Given the description of an element on the screen output the (x, y) to click on. 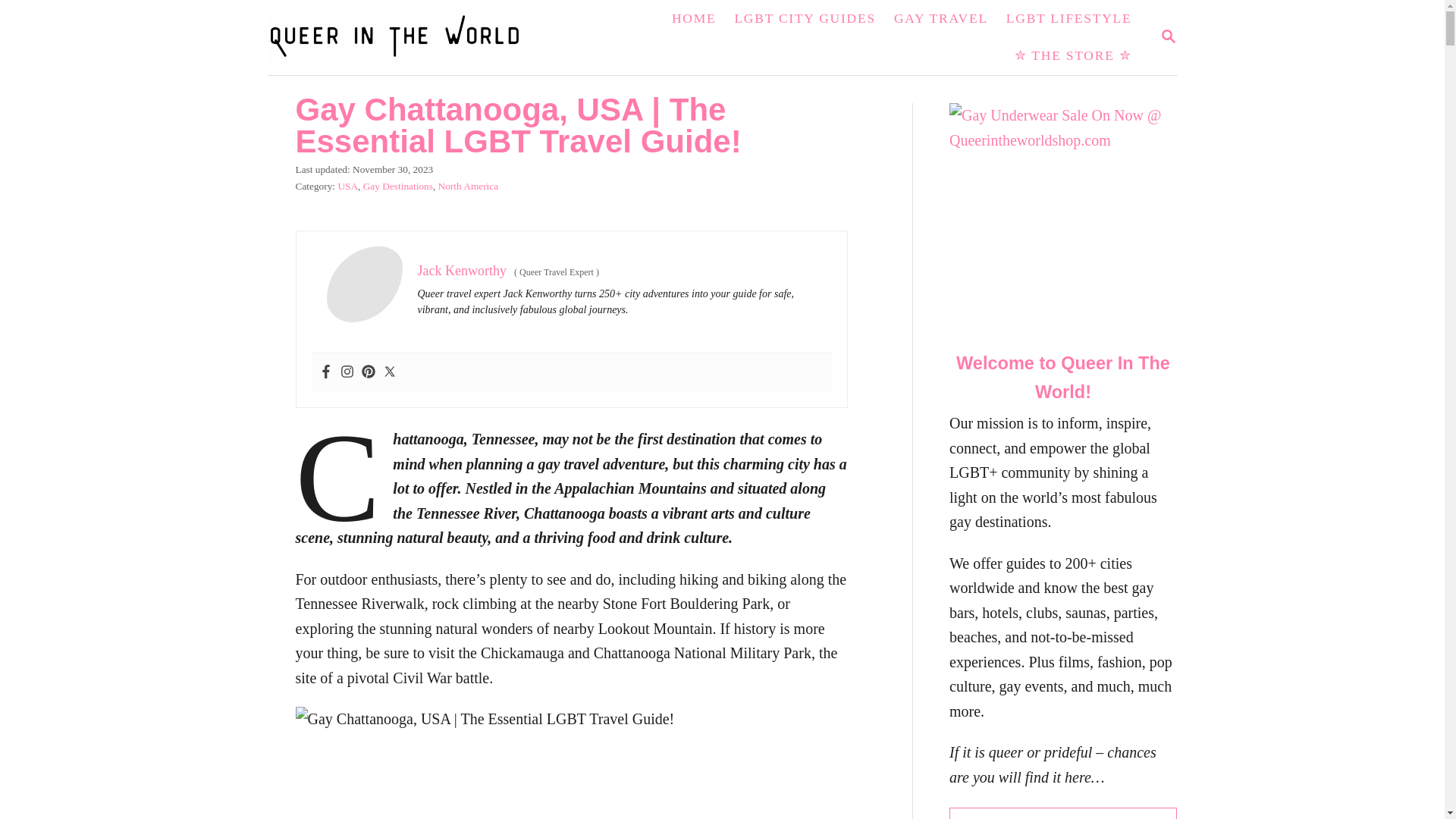
MAGNIFYING GLASS (1167, 36)
HOME (693, 18)
Queer In The World (403, 37)
LGBT CITY GUIDES (804, 18)
